Given the description of an element on the screen output the (x, y) to click on. 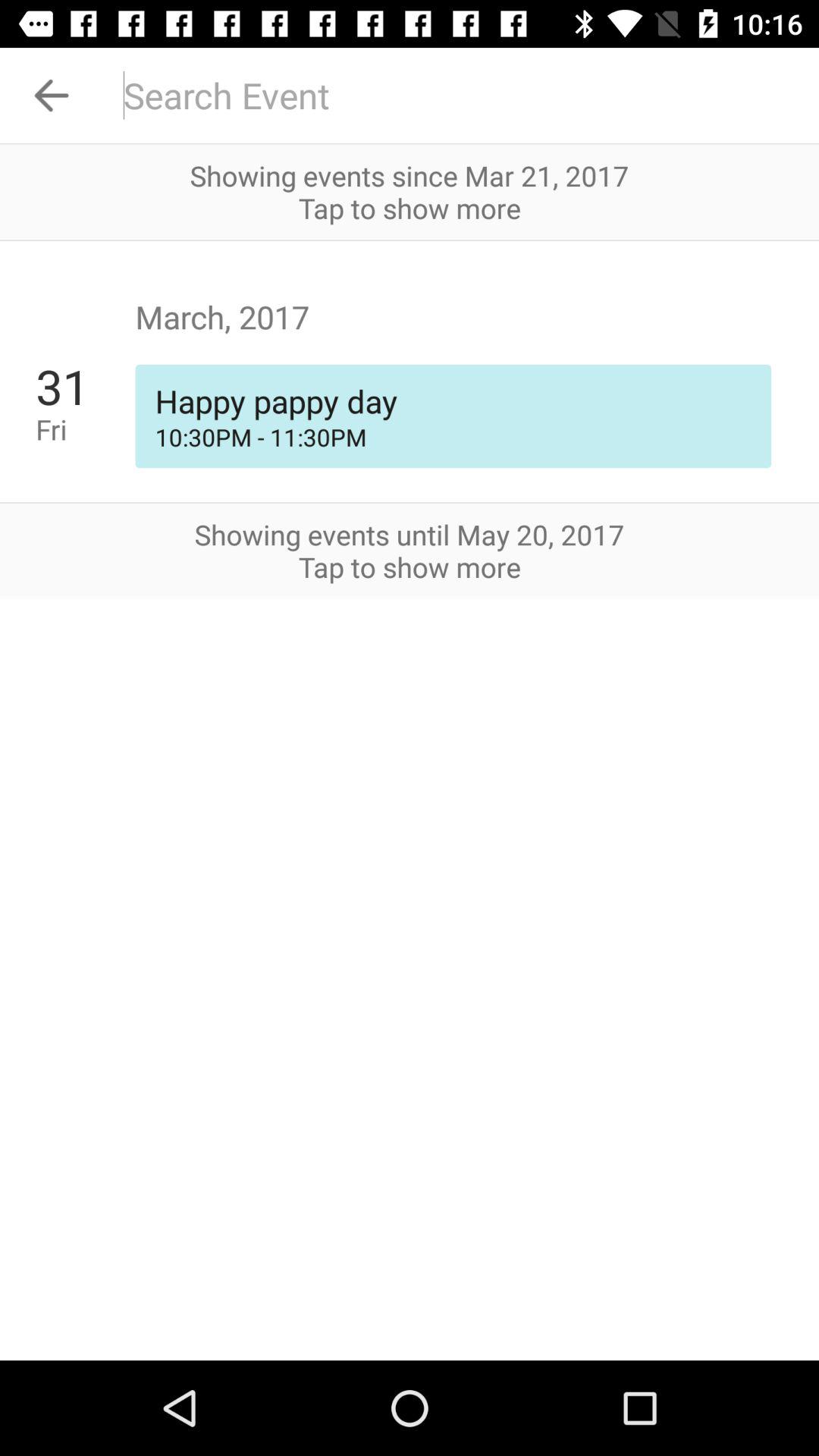
press the app above the march, 2017 item (409, 240)
